Given the description of an element on the screen output the (x, y) to click on. 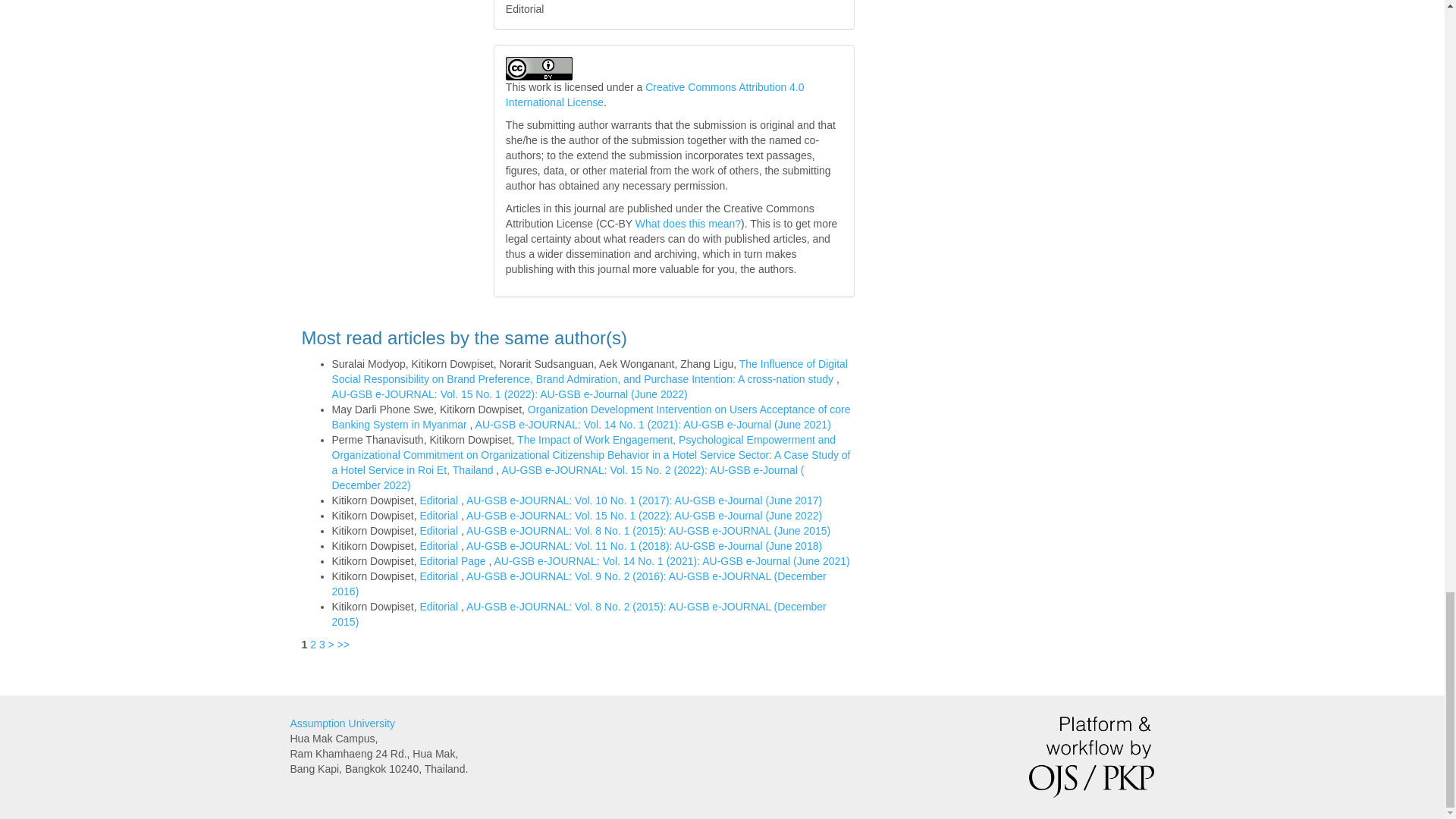
Creative Commons Attribution 4.0 International License (655, 94)
What does this mean? (687, 223)
